Given the description of an element on the screen output the (x, y) to click on. 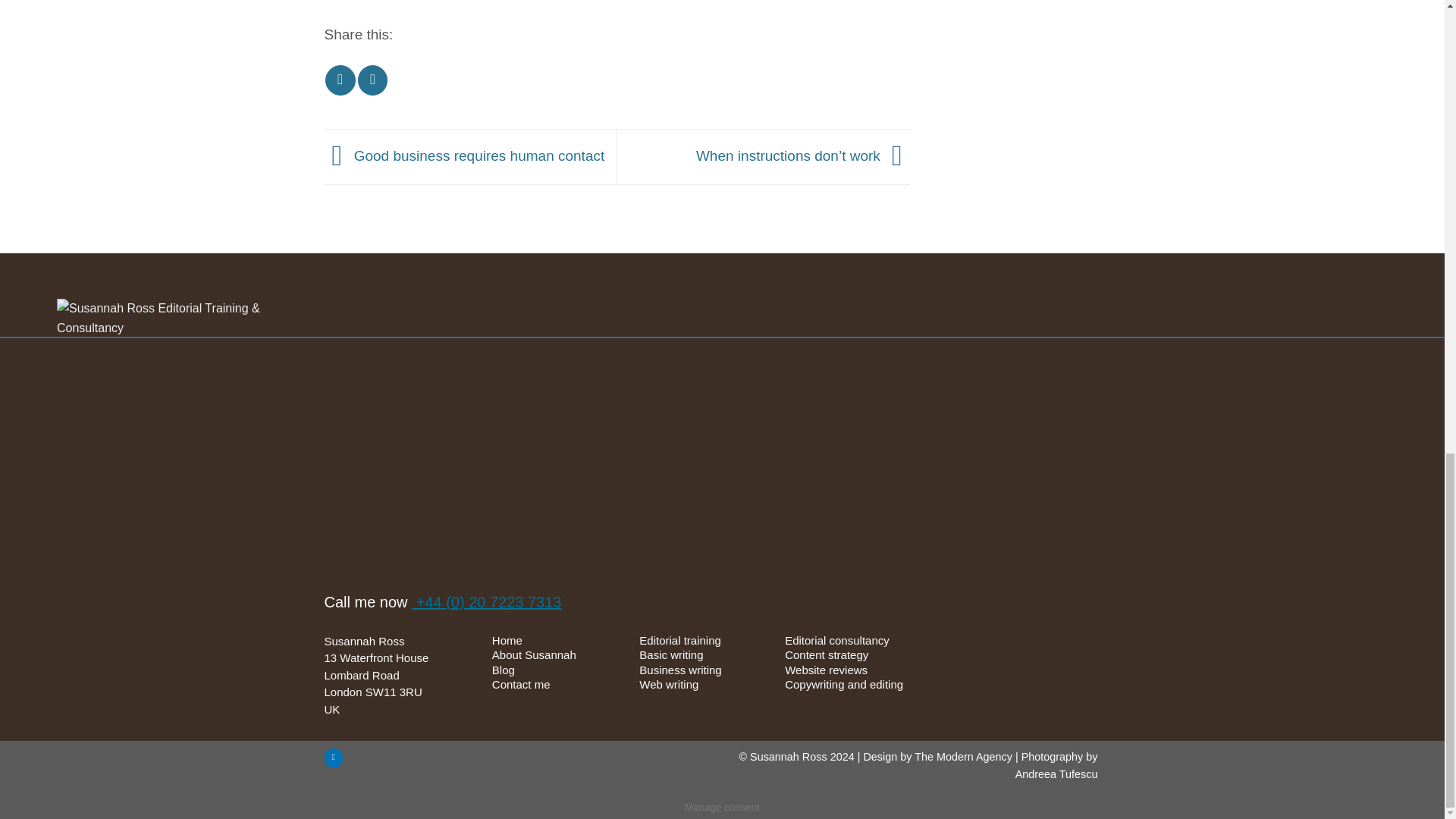
Share on LinkedIn (372, 80)
Good business requires human contact (464, 155)
Follow on LinkedIn (333, 757)
Email to a Friend (339, 80)
